Given the description of an element on the screen output the (x, y) to click on. 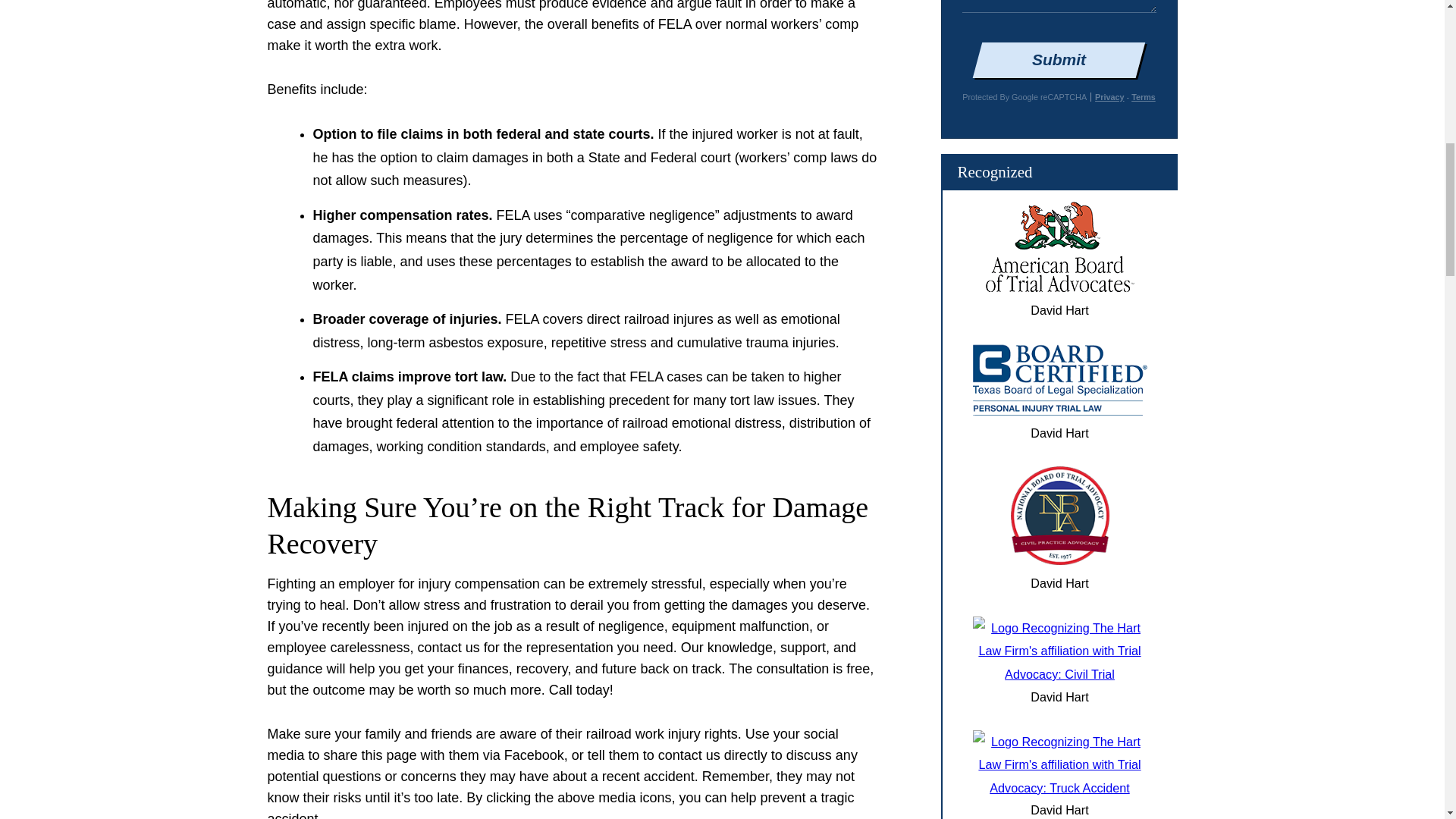
National Association of Trial Advocacy Web Site (1059, 560)
National Association of Trial Advocacy Web Site (1059, 787)
National Association of Trial Advocacy Web Site (1059, 673)
